Given the description of an element on the screen output the (x, y) to click on. 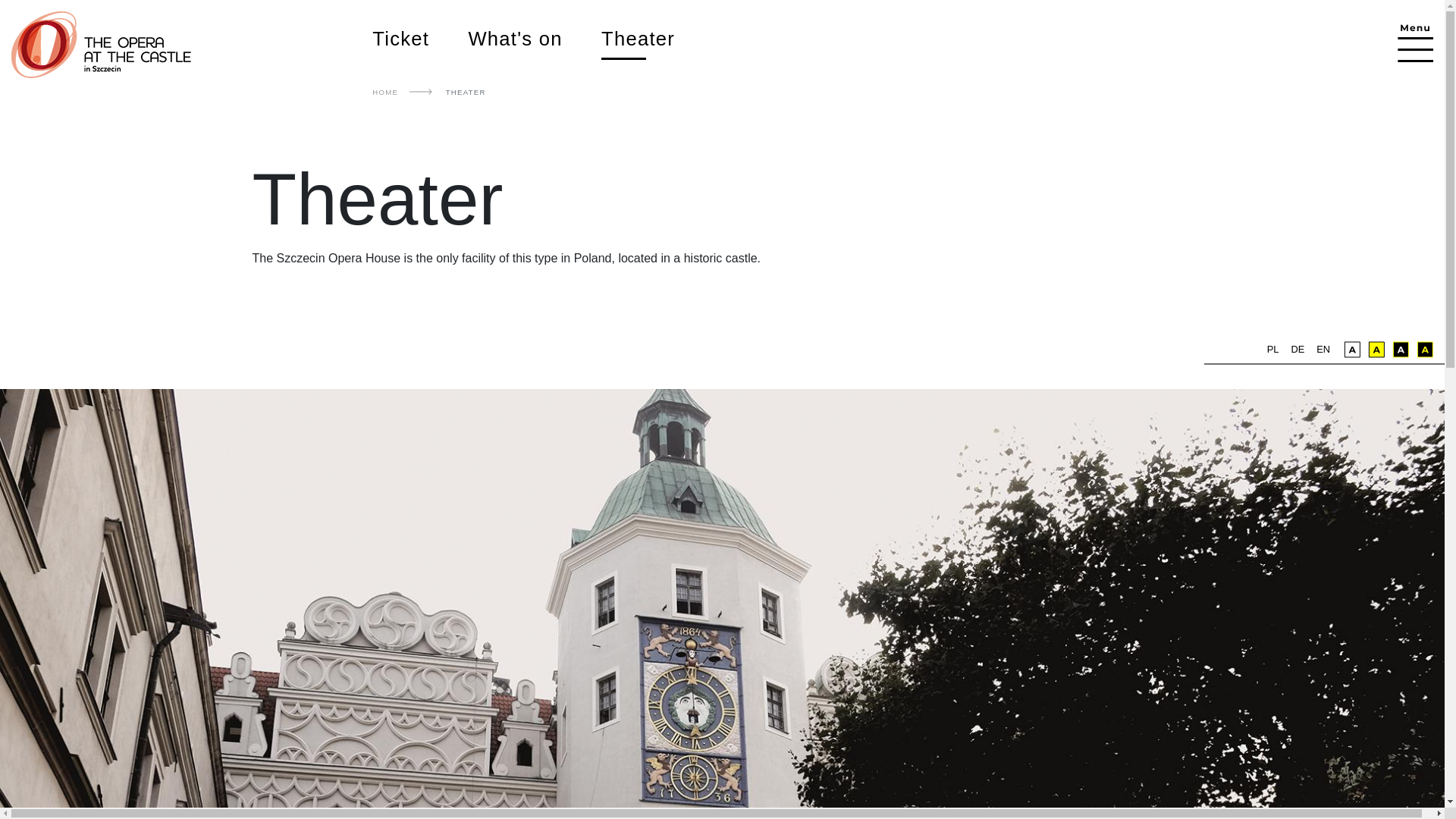
EN (1323, 348)
Ticket (419, 38)
PL (1272, 348)
DE (1297, 348)
Theater (657, 38)
What's on (534, 38)
HOME (384, 91)
